Given the description of an element on the screen output the (x, y) to click on. 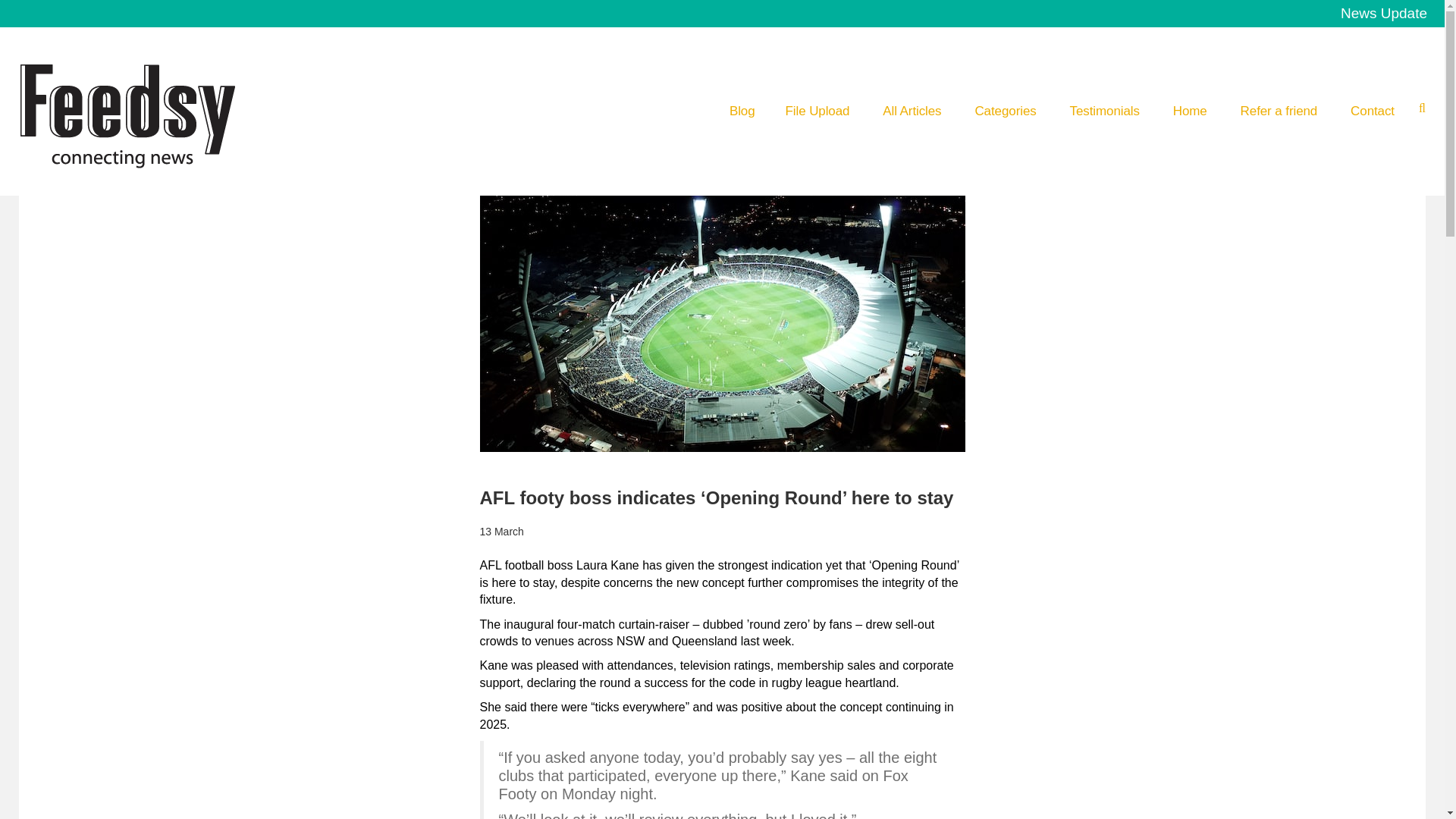
Testimonials (1105, 110)
Blog (742, 110)
Feedsy News (145, 111)
All Articles (911, 110)
Refer a friend (1278, 110)
Contact (1372, 110)
Categories (1004, 110)
File Upload (818, 110)
Home (1190, 110)
